Given the description of an element on the screen output the (x, y) to click on. 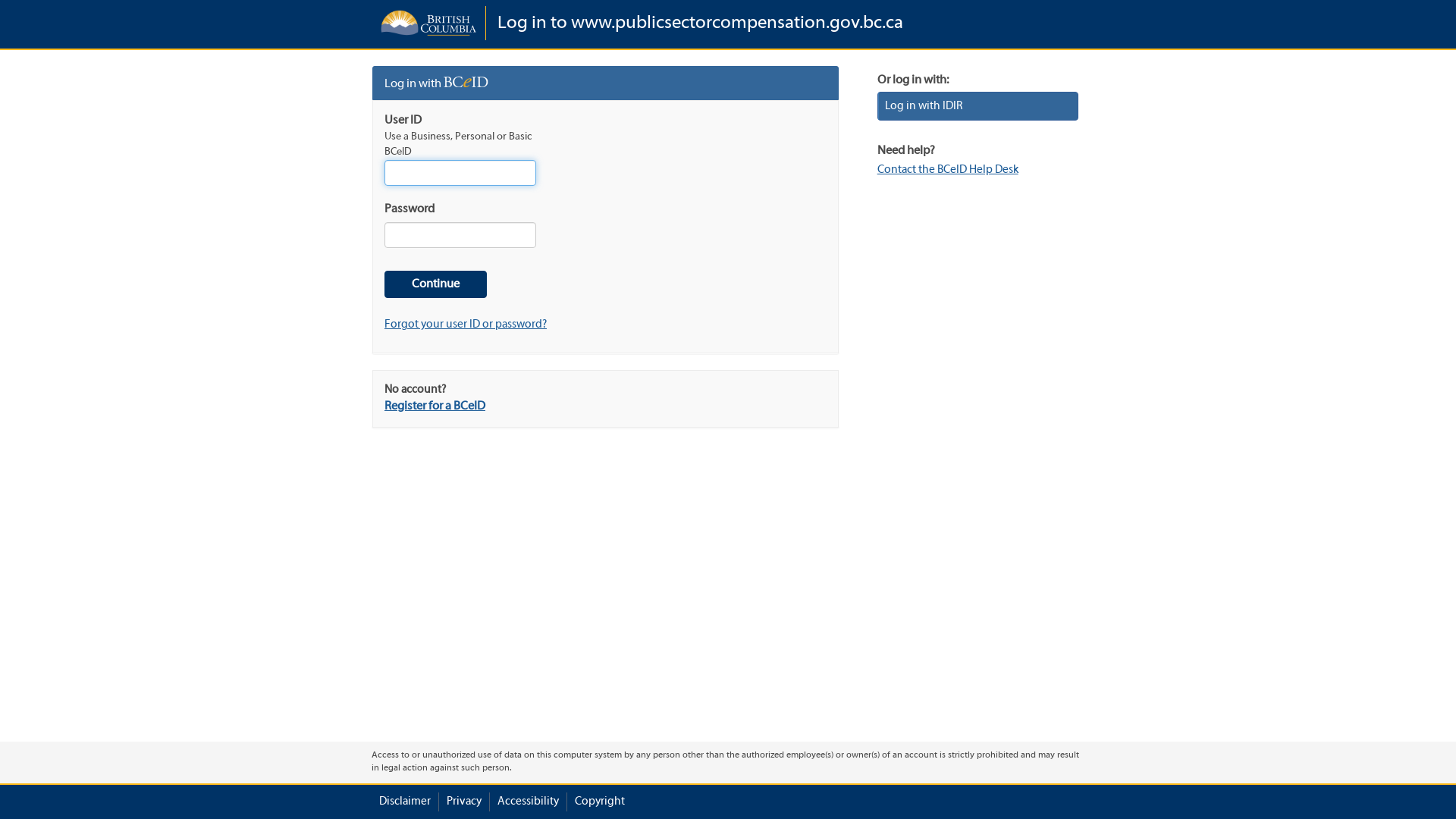
Continue Element type: text (435, 284)
Copyright Element type: text (599, 801)
Disclaimer Element type: text (404, 801)
Accessibility Element type: text (527, 801)
Contact the BCeID Help Desk Element type: text (947, 169)
Forgot your user ID or password? Element type: text (465, 324)
Log in with IDIR Element type: text (977, 105)
Register for a BCeID Element type: text (434, 406)
Privacy Element type: text (463, 801)
